Given the description of an element on the screen output the (x, y) to click on. 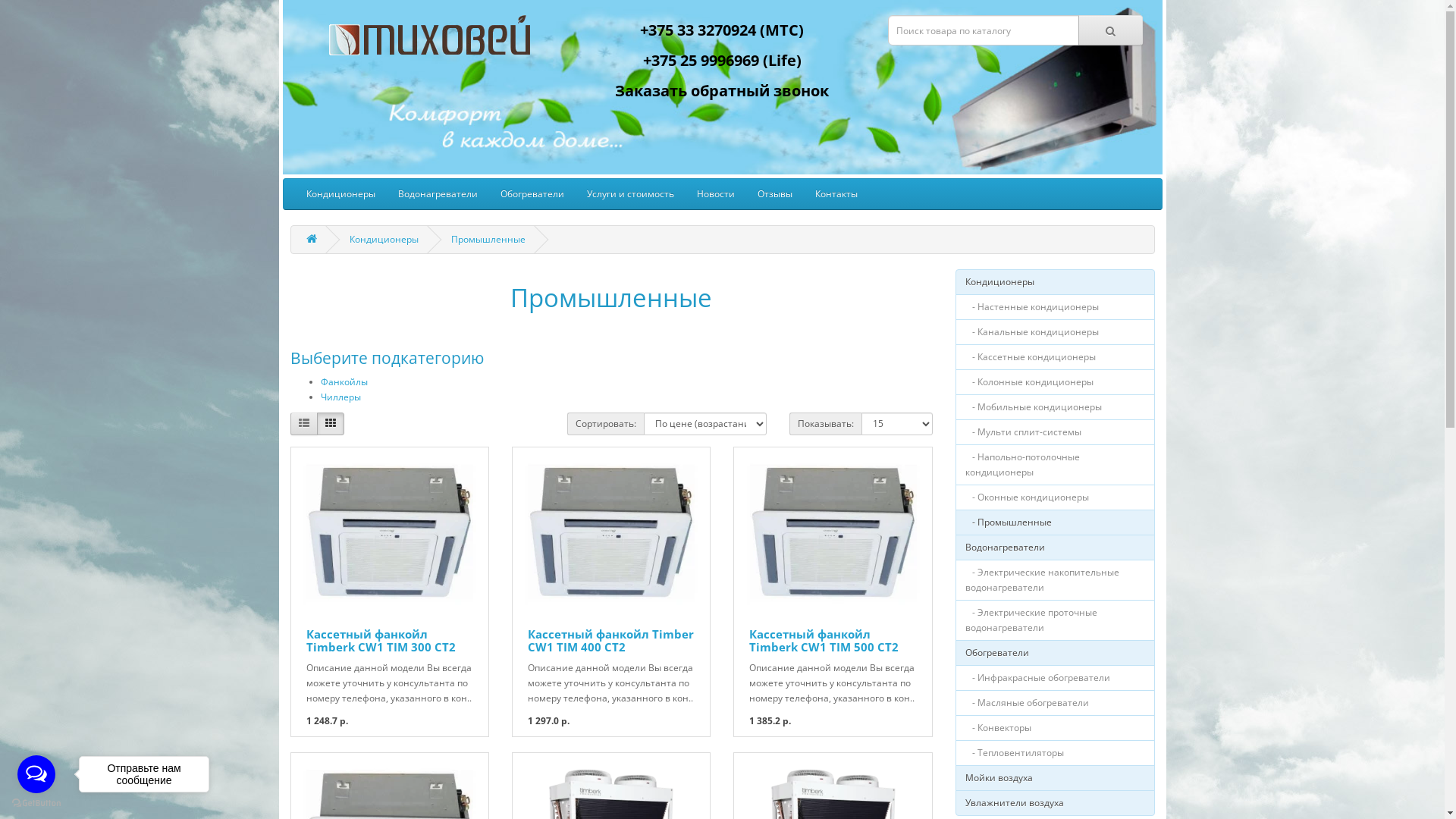
+375 25 9996969 (Life) Element type: text (722, 60)
